Given the description of an element on the screen output the (x, y) to click on. 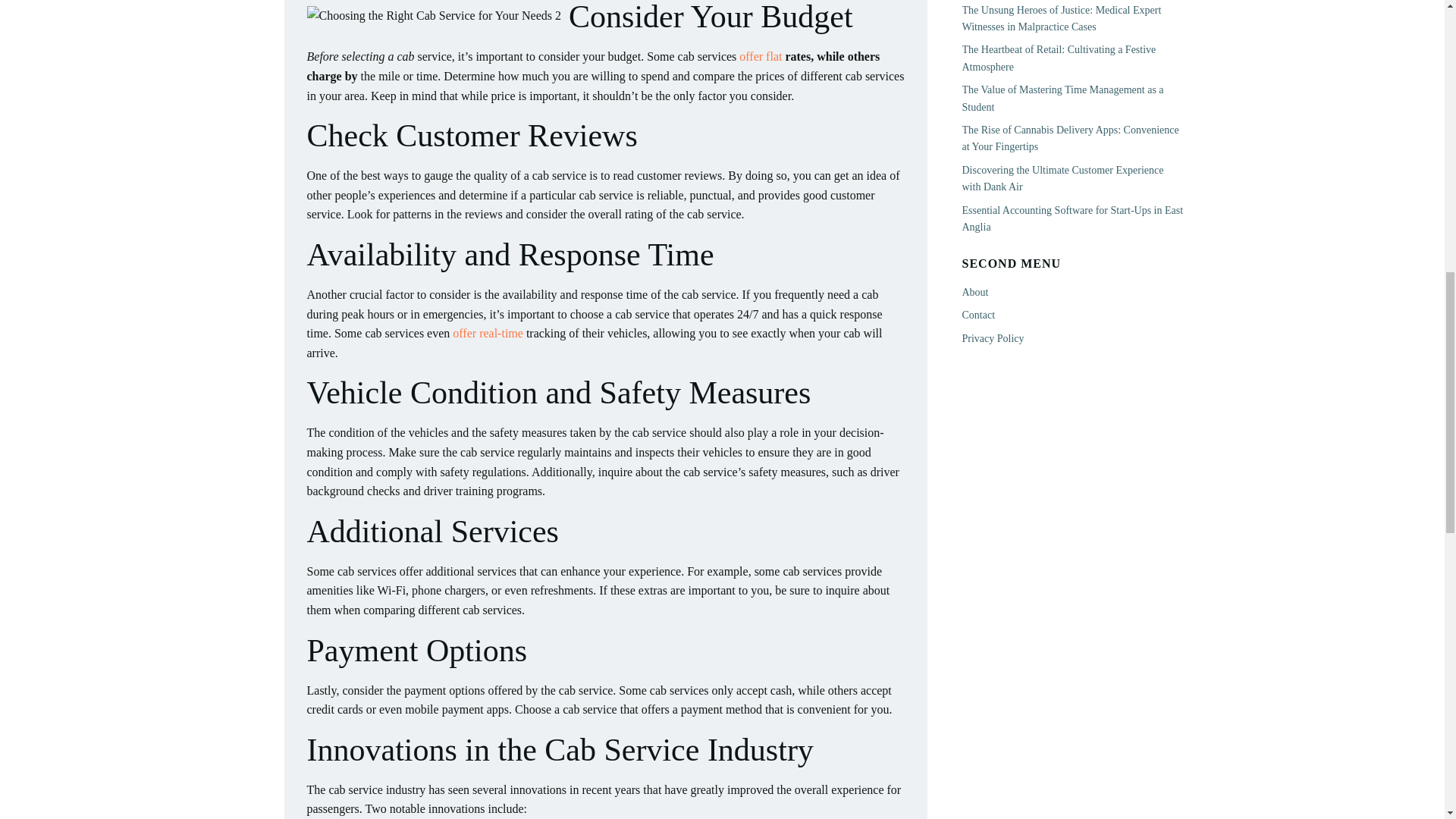
Contact (977, 315)
About (974, 292)
The Heartbeat of Retail: Cultivating a Festive Atmosphere (1058, 58)
The Value of Mastering Time Management as a Student (1061, 98)
Privacy Policy (991, 337)
offer real-time (487, 332)
Essential Accounting Software for Start-Ups in East Anglia (1071, 218)
offer flat (760, 56)
